Given the description of an element on the screen output the (x, y) to click on. 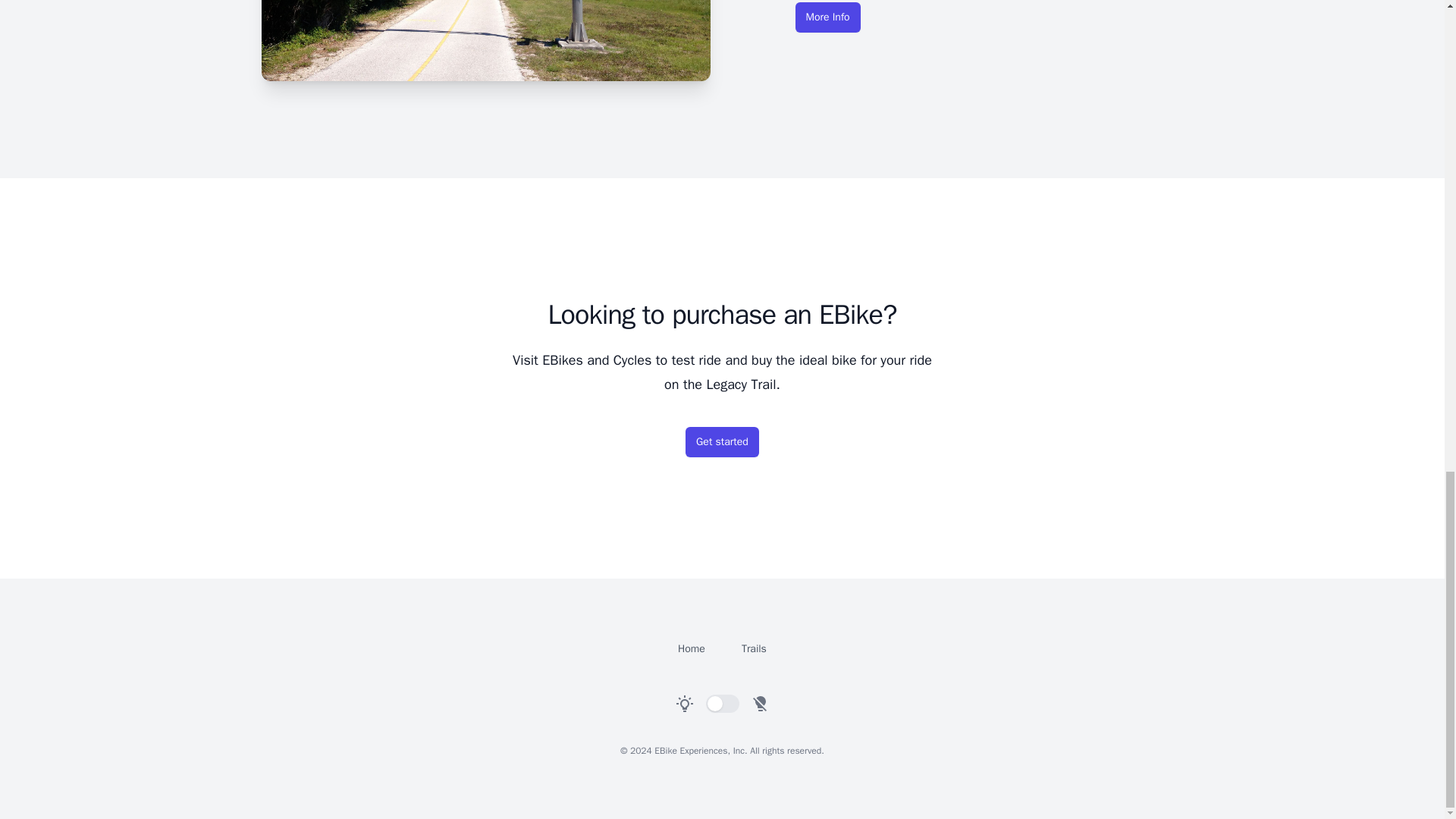
Use setting (721, 703)
Home (691, 648)
EBike Trail Sarasota (485, 40)
More Info (827, 17)
The Legacy Trail Sarasota (827, 17)
Florida EBike Trails (754, 648)
Get started (721, 441)
Florida EBike Experiences (691, 648)
Trails (754, 648)
